Given the description of an element on the screen output the (x, y) to click on. 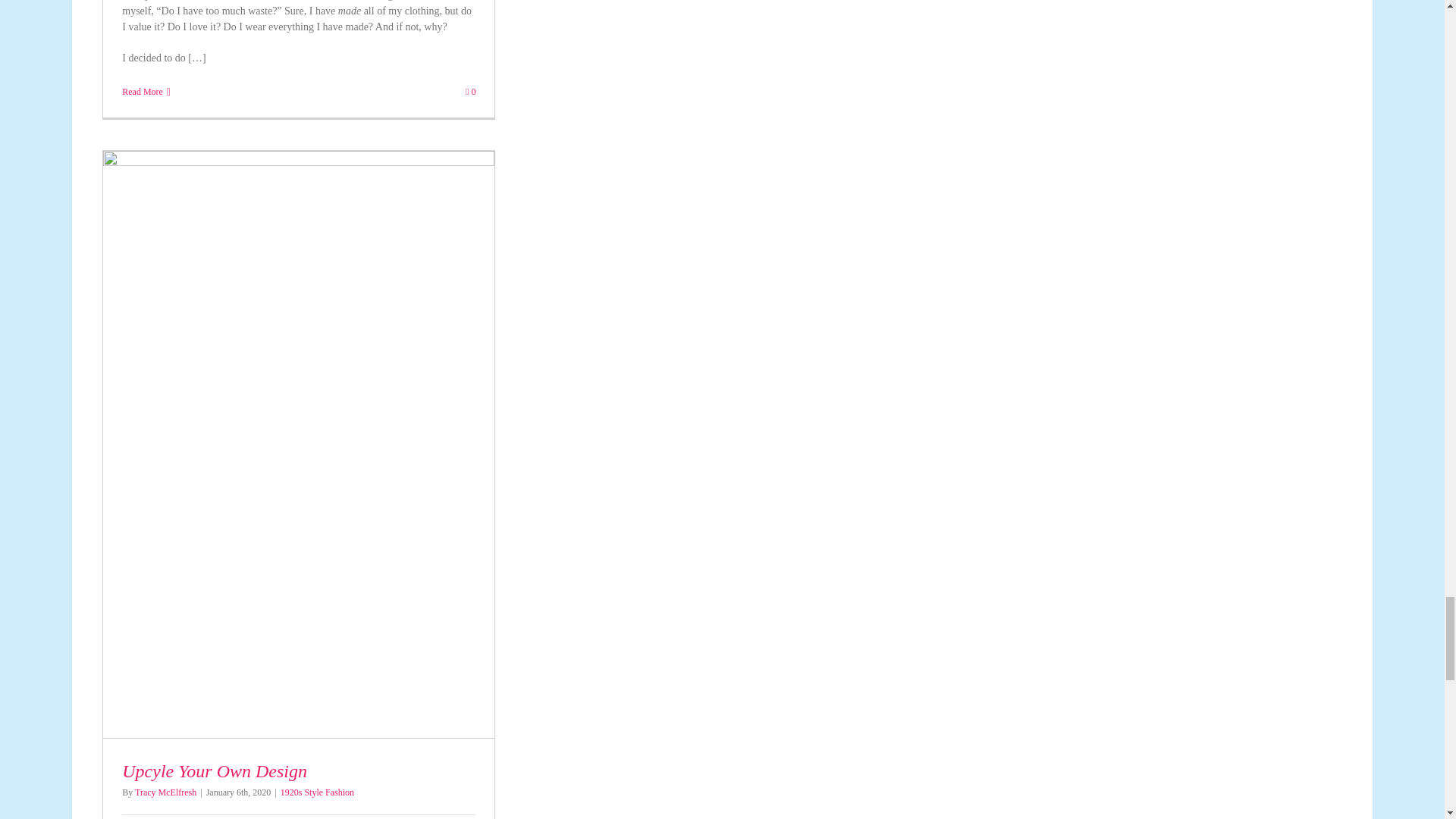
Posts by Tracy McElfresh (165, 792)
